Given the description of an element on the screen output the (x, y) to click on. 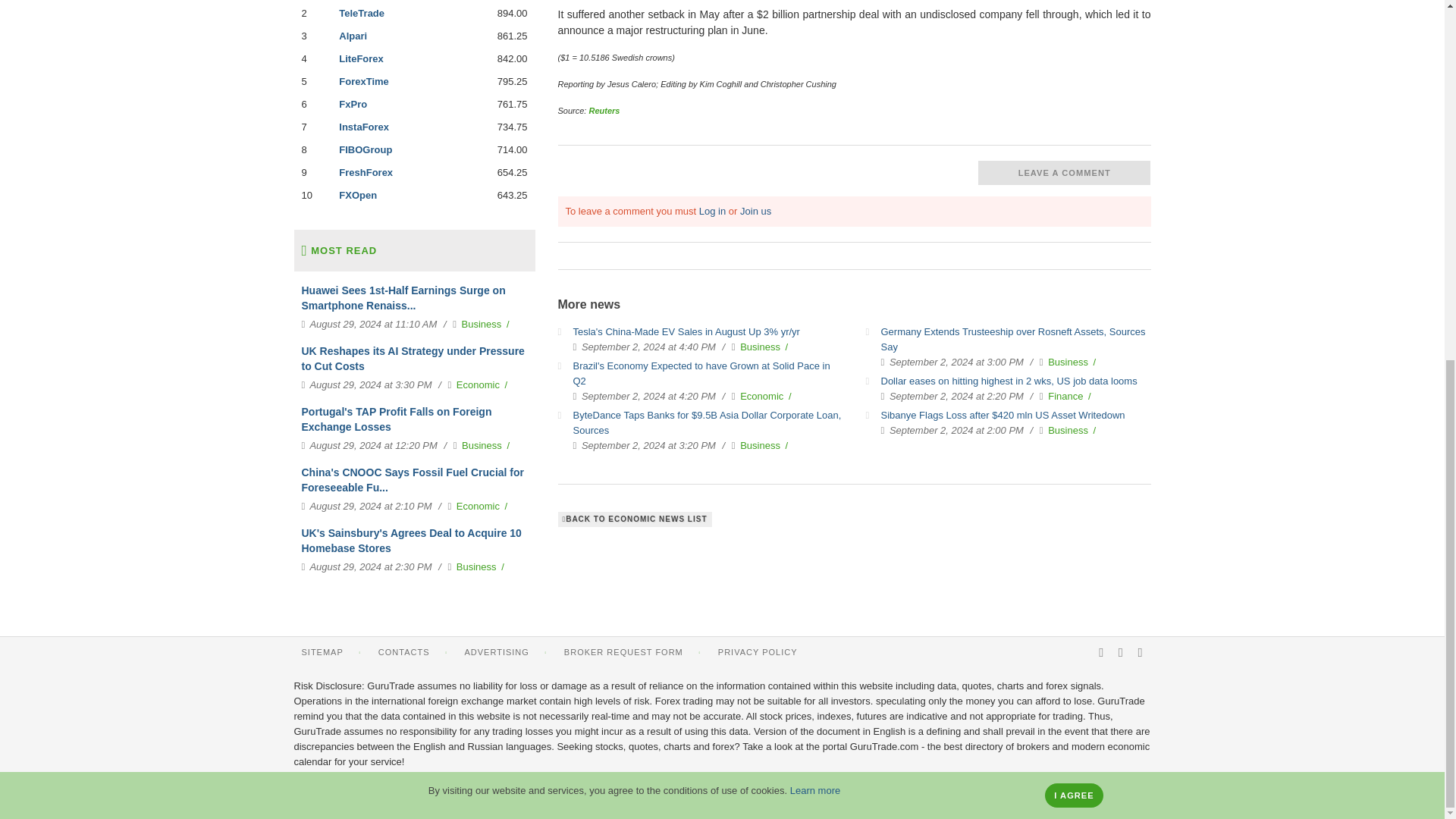
LEAVE A COMMENT (1064, 172)
Join us (755, 211)
Log in (711, 211)
Reuters (604, 110)
